Given the description of an element on the screen output the (x, y) to click on. 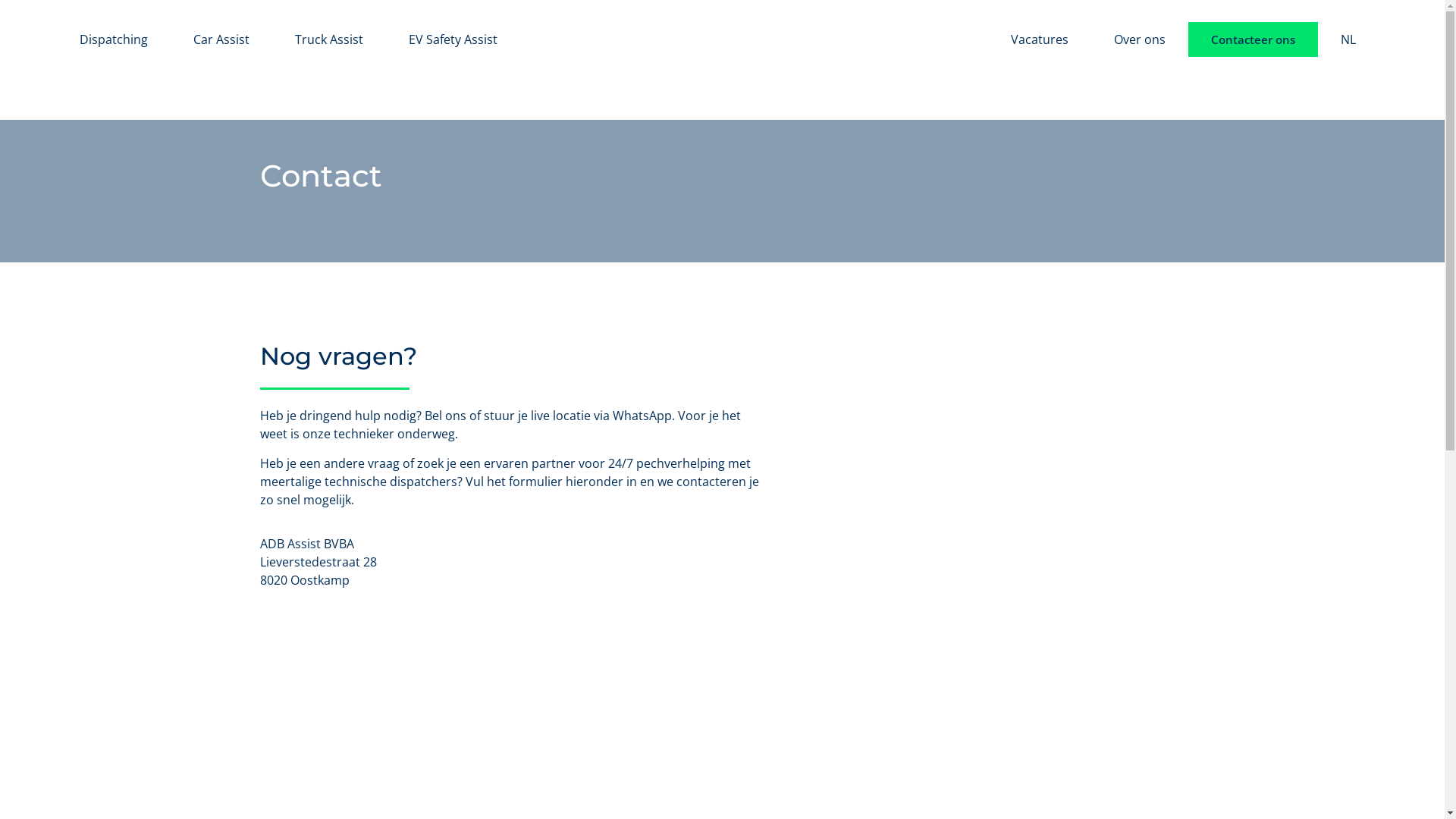
Contacteer ons Element type: text (1253, 38)
Car Assist Element type: text (221, 38)
Truck Assist Element type: text (328, 38)
Vacatures Element type: text (1039, 38)
NL Element type: text (1347, 38)
ADB Assist BVBA
Lieverstedestraat 28
8020 Oostkamp Element type: text (509, 561)
EV Safety Assist Element type: text (452, 38)
Dispatching Element type: text (113, 38)
Over ons Element type: text (1139, 38)
